Given the description of an element on the screen output the (x, y) to click on. 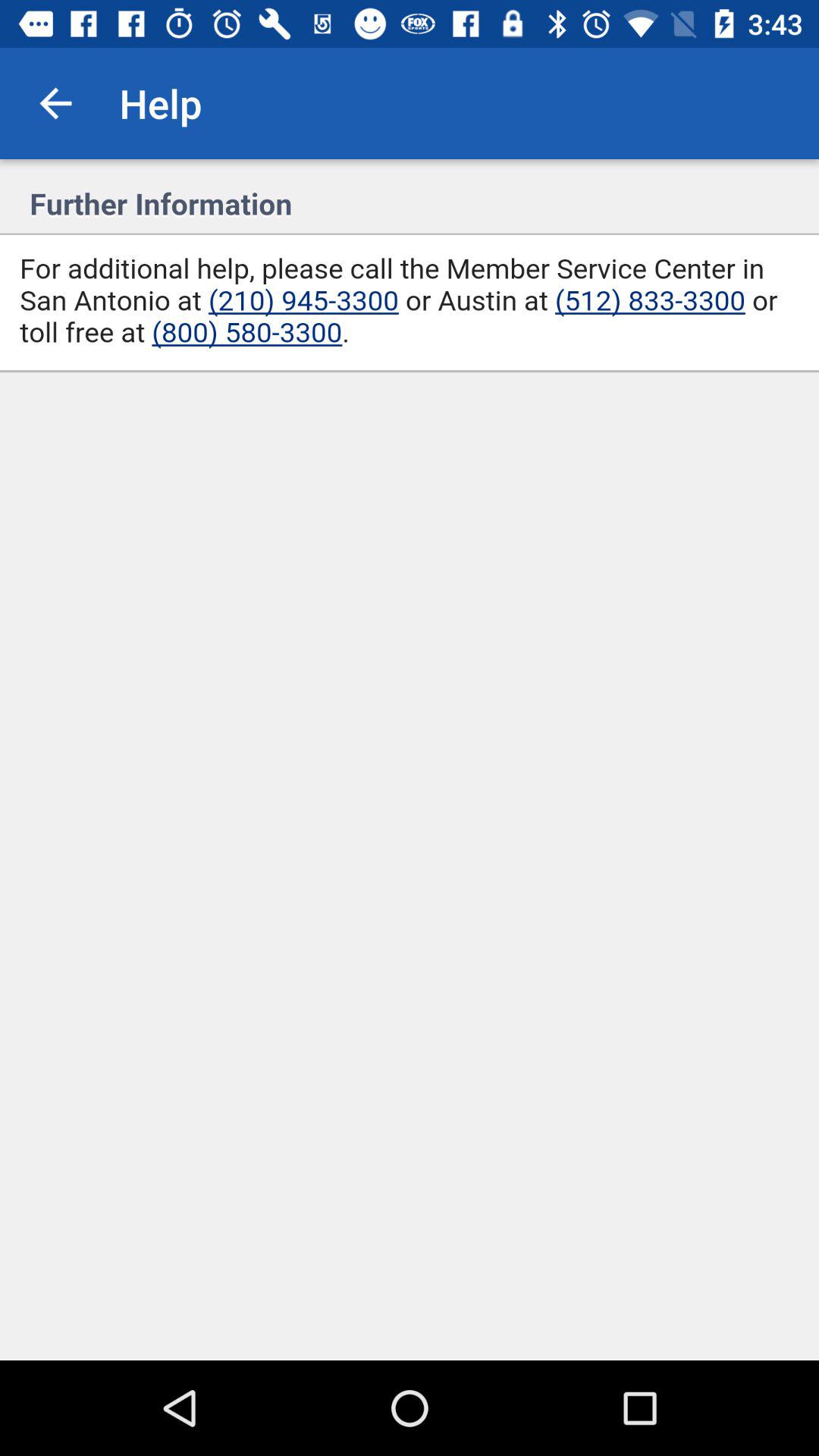
dail specific phone numbers to call service center (409, 759)
